Given the description of an element on the screen output the (x, y) to click on. 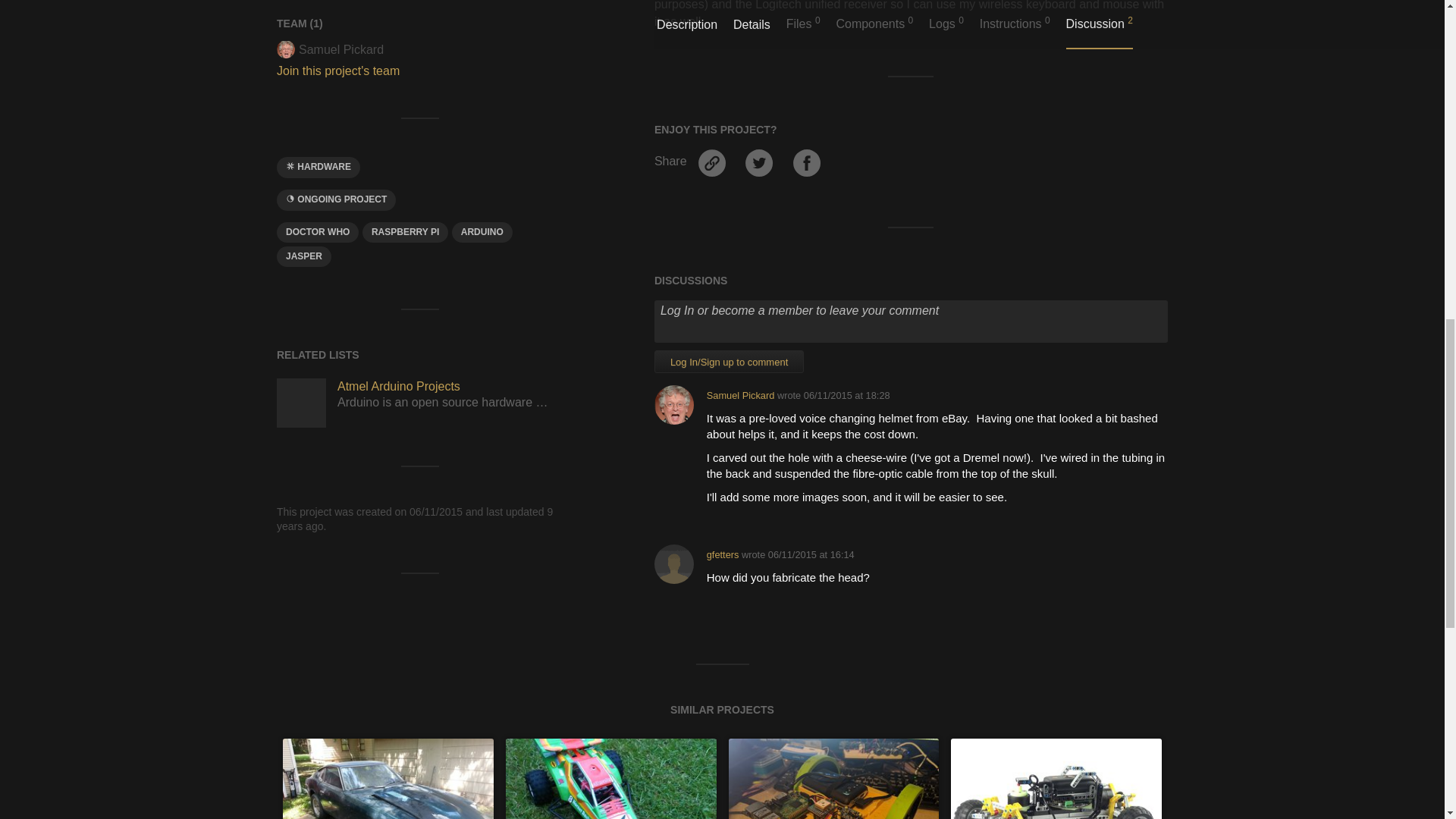
Atmel Arduino Projects (301, 402)
Pi RC Car by keithl.online (610, 778)
9 years ago (811, 554)
9 years ago (846, 395)
Captain PIcar by Derrick (833, 778)
